Given the description of an element on the screen output the (x, y) to click on. 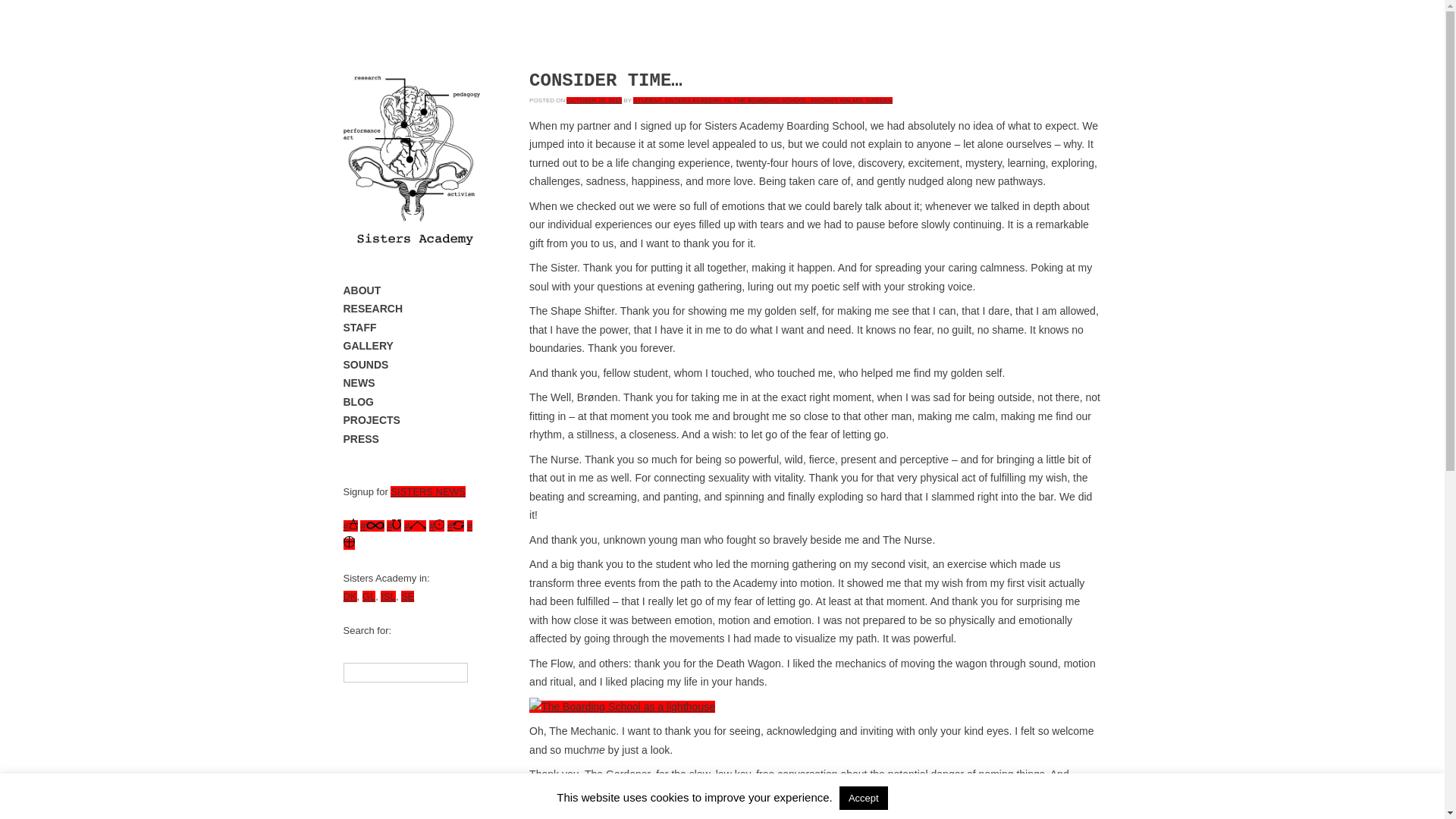
GL (368, 595)
ABOUT (410, 290)
SOUNDS (410, 364)
PRESS (410, 438)
ISL (388, 595)
BLOG (410, 402)
SISTERS NEWS (427, 491)
STAFF (410, 327)
Accept (864, 797)
PROJECTS (410, 420)
